Given the description of an element on the screen output the (x, y) to click on. 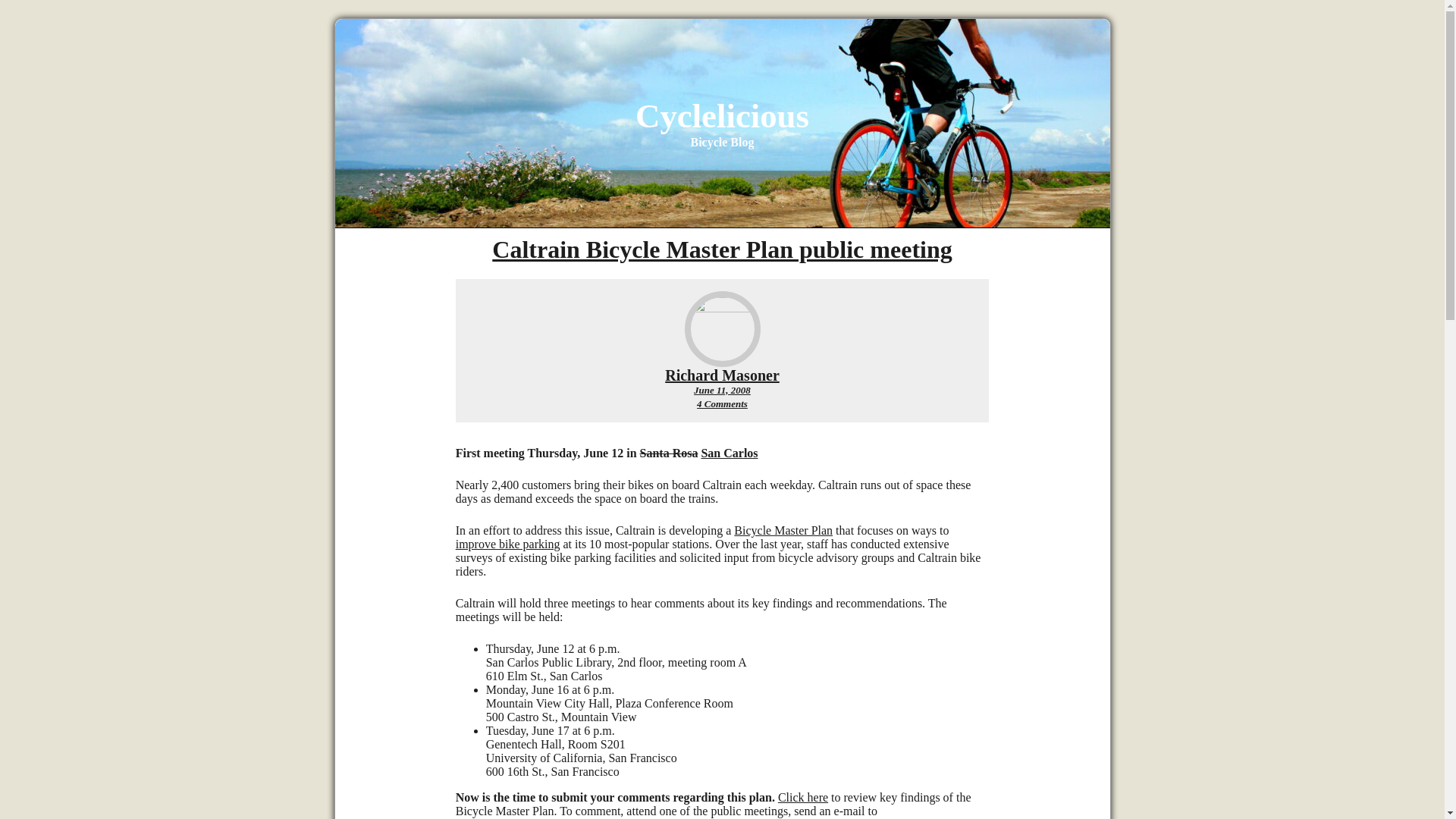
Click here (722, 403)
View all posts by Richard Masoner (802, 797)
Caltrain Bicycle Master Plan public meeting (721, 375)
4:00 pm (722, 248)
Richard Masoner (722, 389)
Cyclelicious (721, 375)
Skip to content (721, 116)
